Given the description of an element on the screen output the (x, y) to click on. 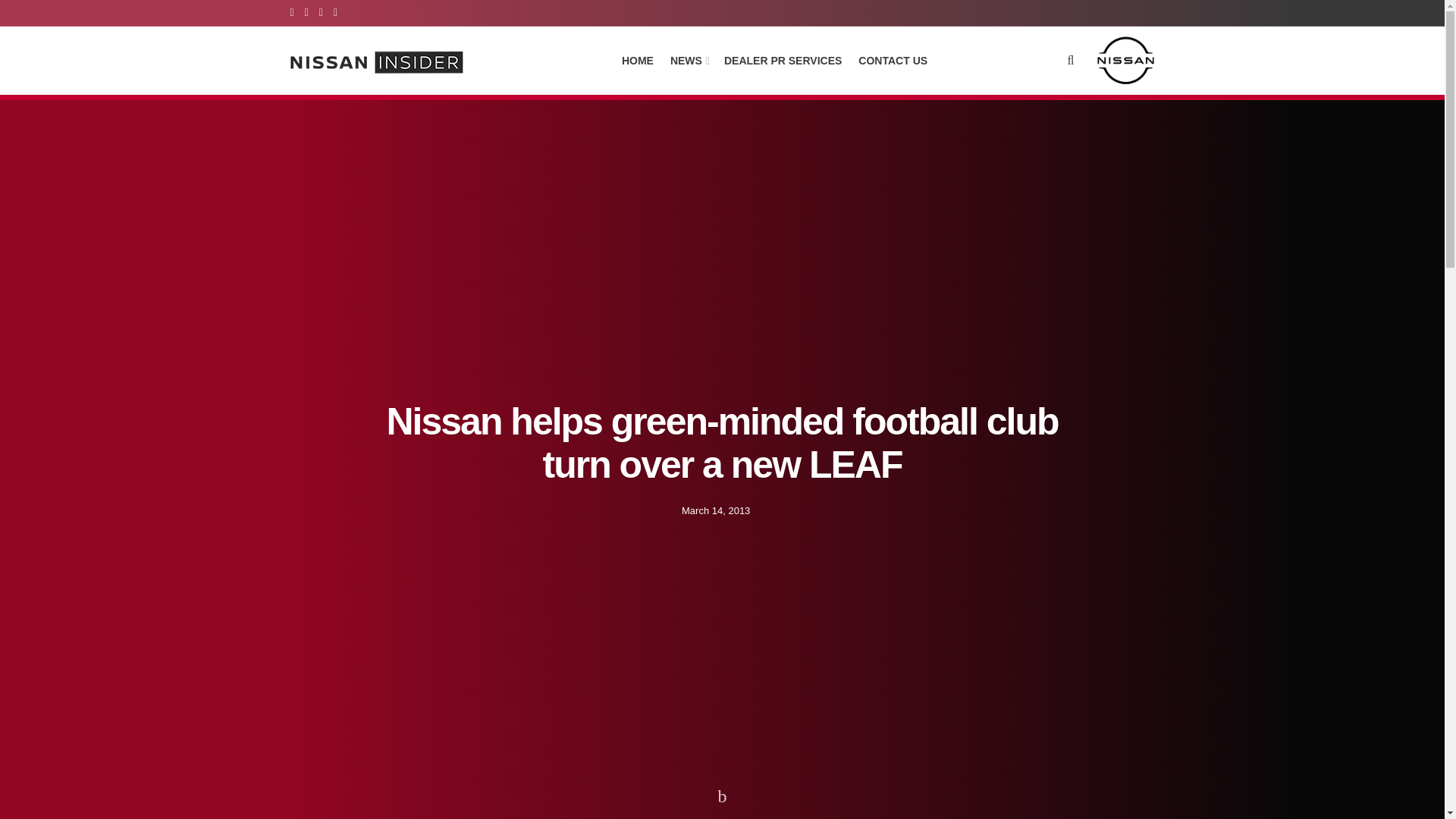
CONTACT US (893, 60)
NEWS (688, 60)
HOME (637, 60)
March 14, 2013 (715, 509)
DEALER PR SERVICES (782, 60)
